Given the description of an element on the screen output the (x, y) to click on. 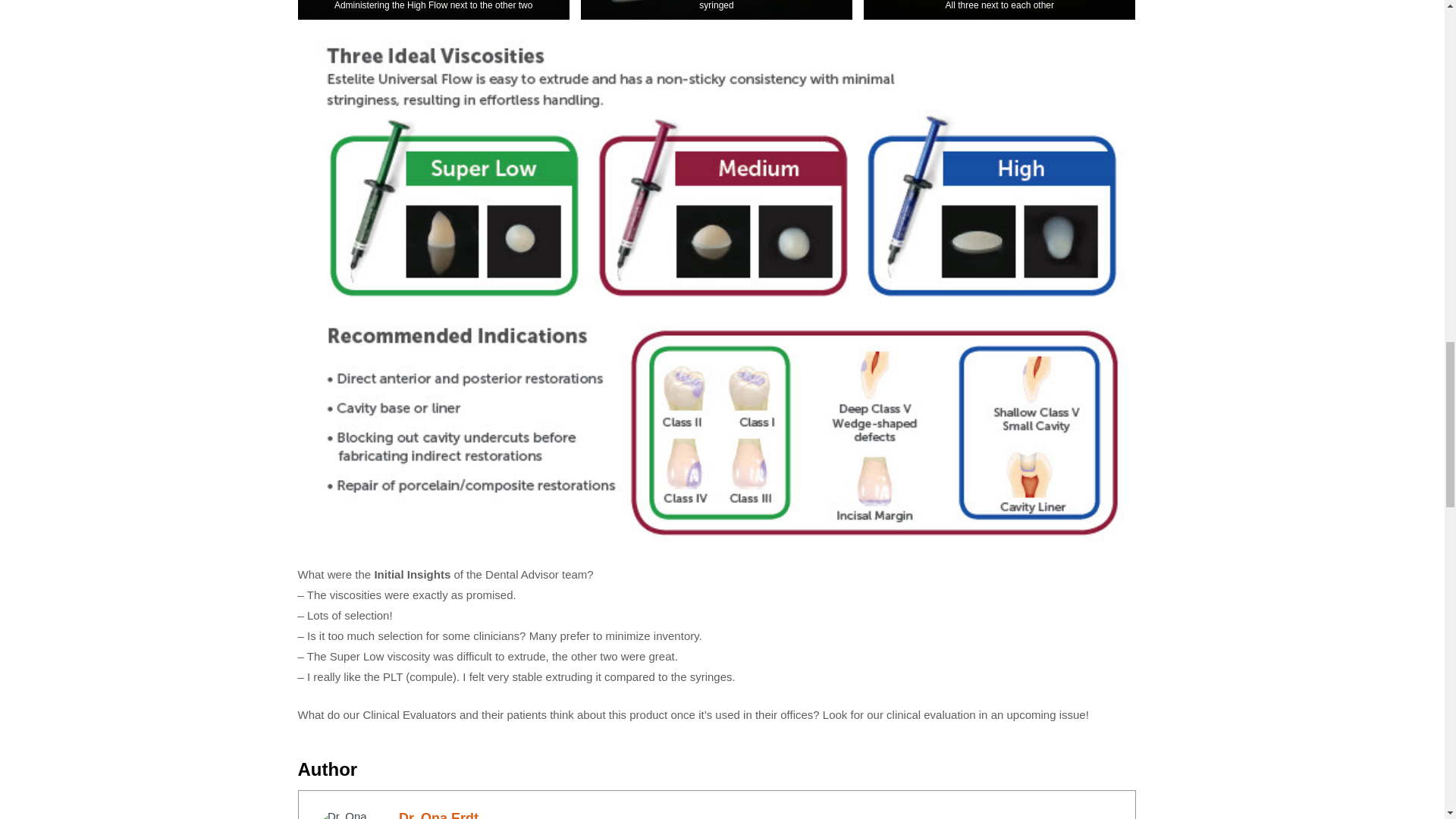
Dr. Ona Erdt (438, 814)
Dr. Ona Erdt (438, 814)
